Given the description of an element on the screen output the (x, y) to click on. 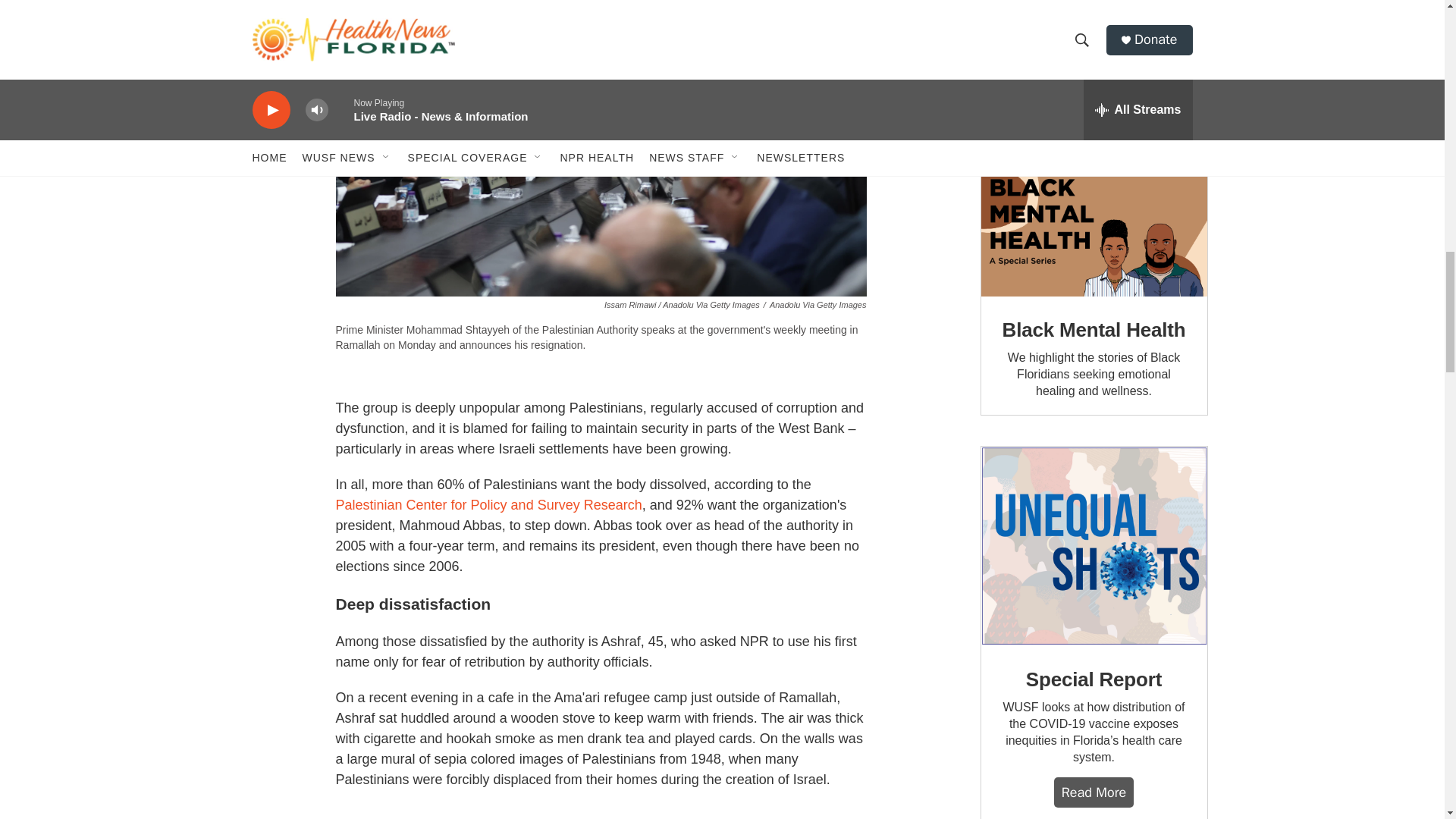
3rd party ad content (1093, 69)
